Given the description of an element on the screen output the (x, y) to click on. 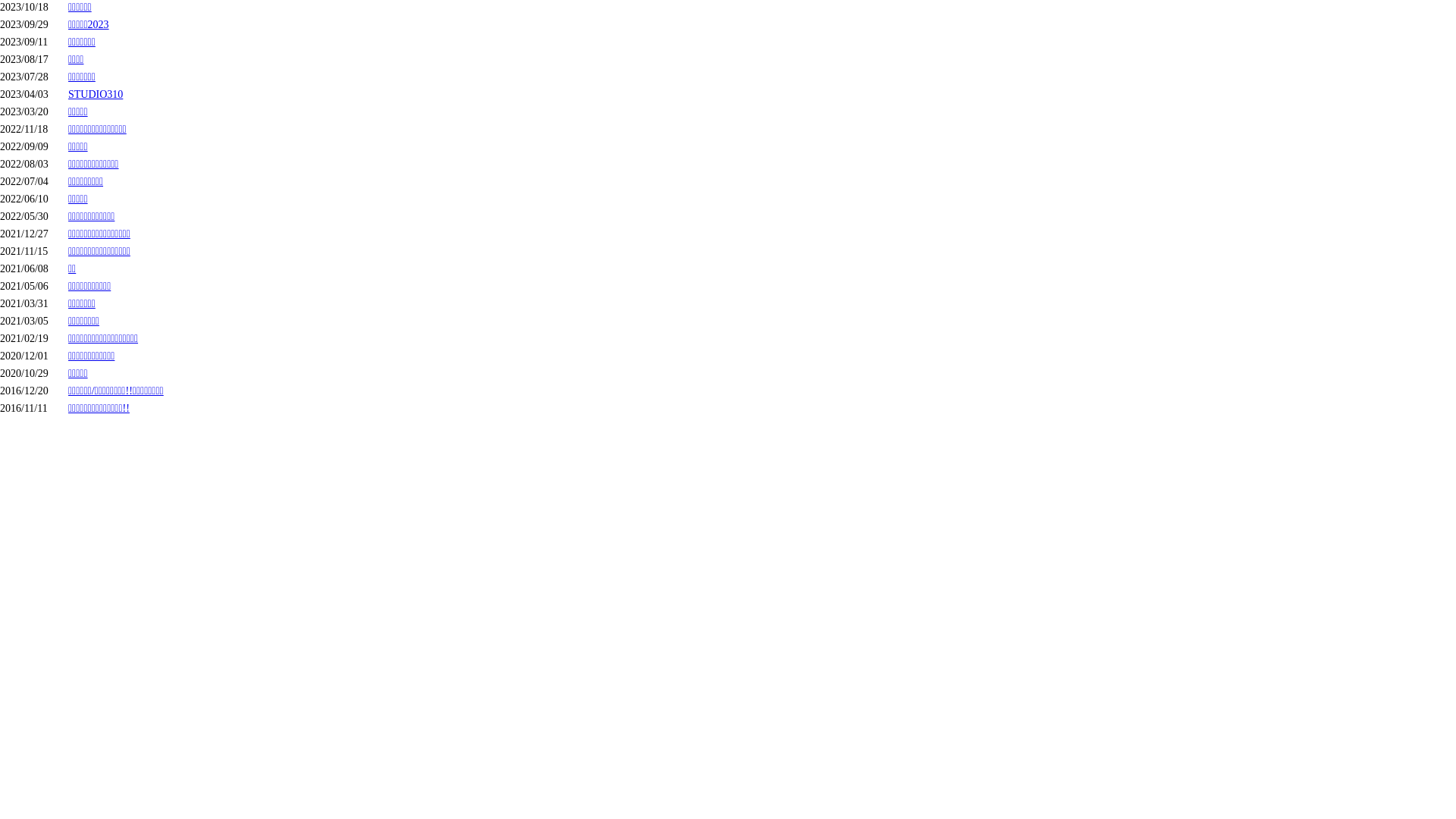
STUDIO310 Element type: text (95, 94)
